Given the description of an element on the screen output the (x, y) to click on. 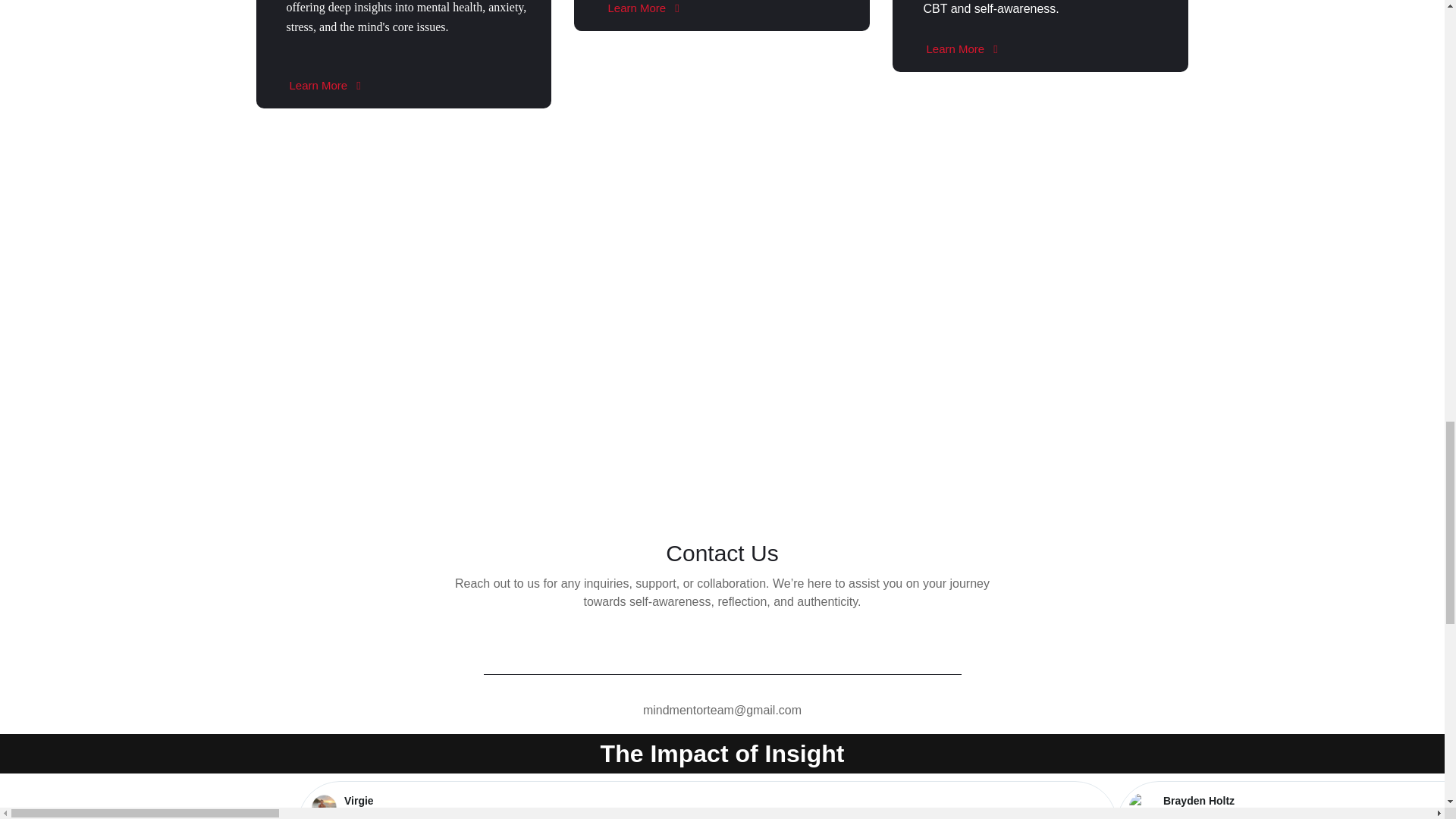
Learn More (960, 49)
Learn More (643, 11)
Learn More (324, 85)
